Given the description of an element on the screen output the (x, y) to click on. 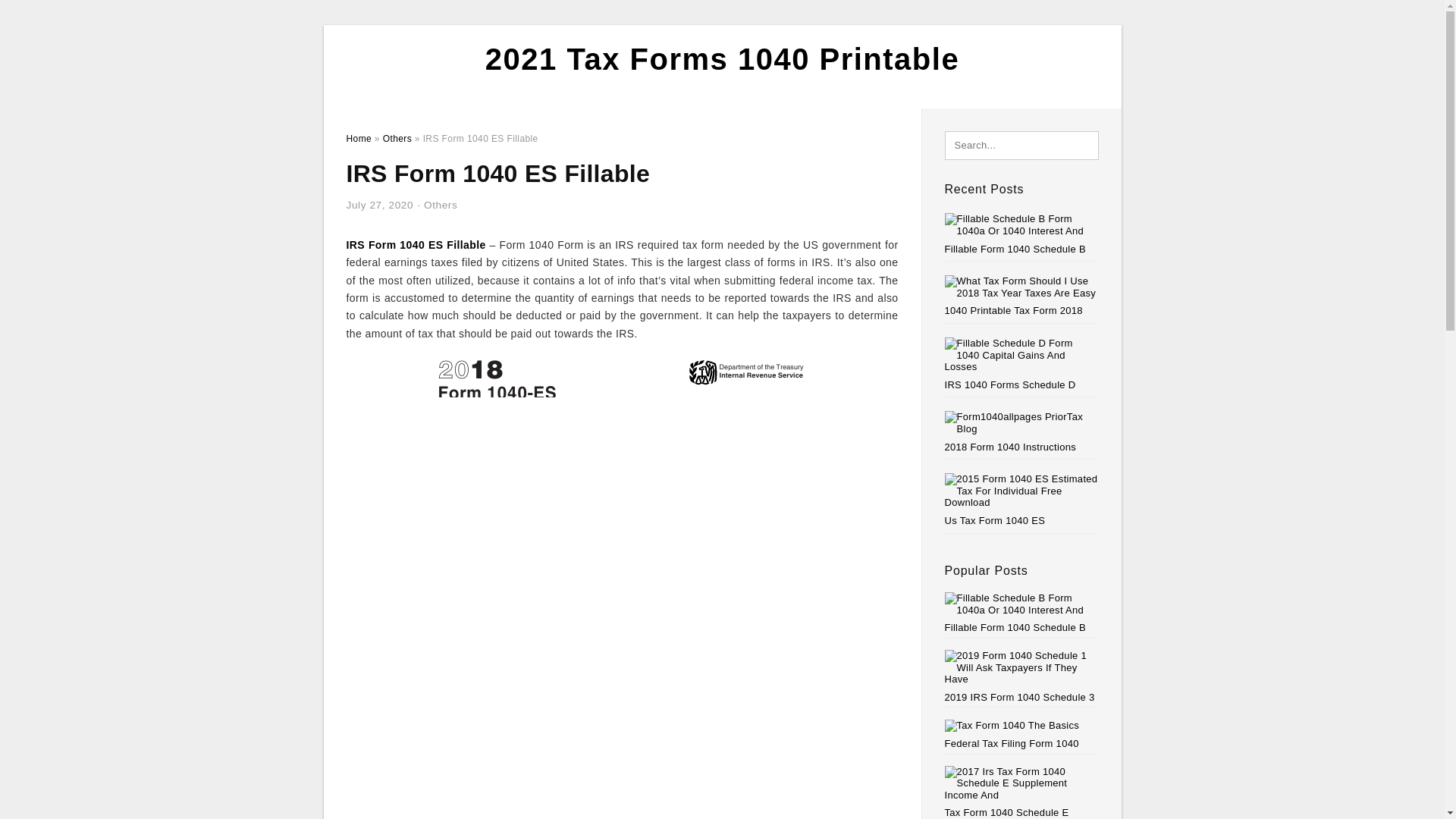
Search (43, 15)
2018 Form 1040 Instructions Schedule 2 (1010, 446)
Others (440, 204)
Others (397, 138)
2019 IRS Form 1040 Schedule 3 (1021, 676)
IRS 1040 Forms Schedule D (1009, 384)
Federal Tax Filing Form 1040 (1021, 734)
Home (358, 138)
1040 Printable Tax Form 2018 (1013, 310)
Fillable Form 1040 Schedule B (1021, 612)
Tax Form 1040 Schedule E (1021, 792)
2021 Tax Forms 1040 Printable (721, 59)
Fillable Form 1040 Schedule B (1015, 248)
